Given the description of an element on the screen output the (x, y) to click on. 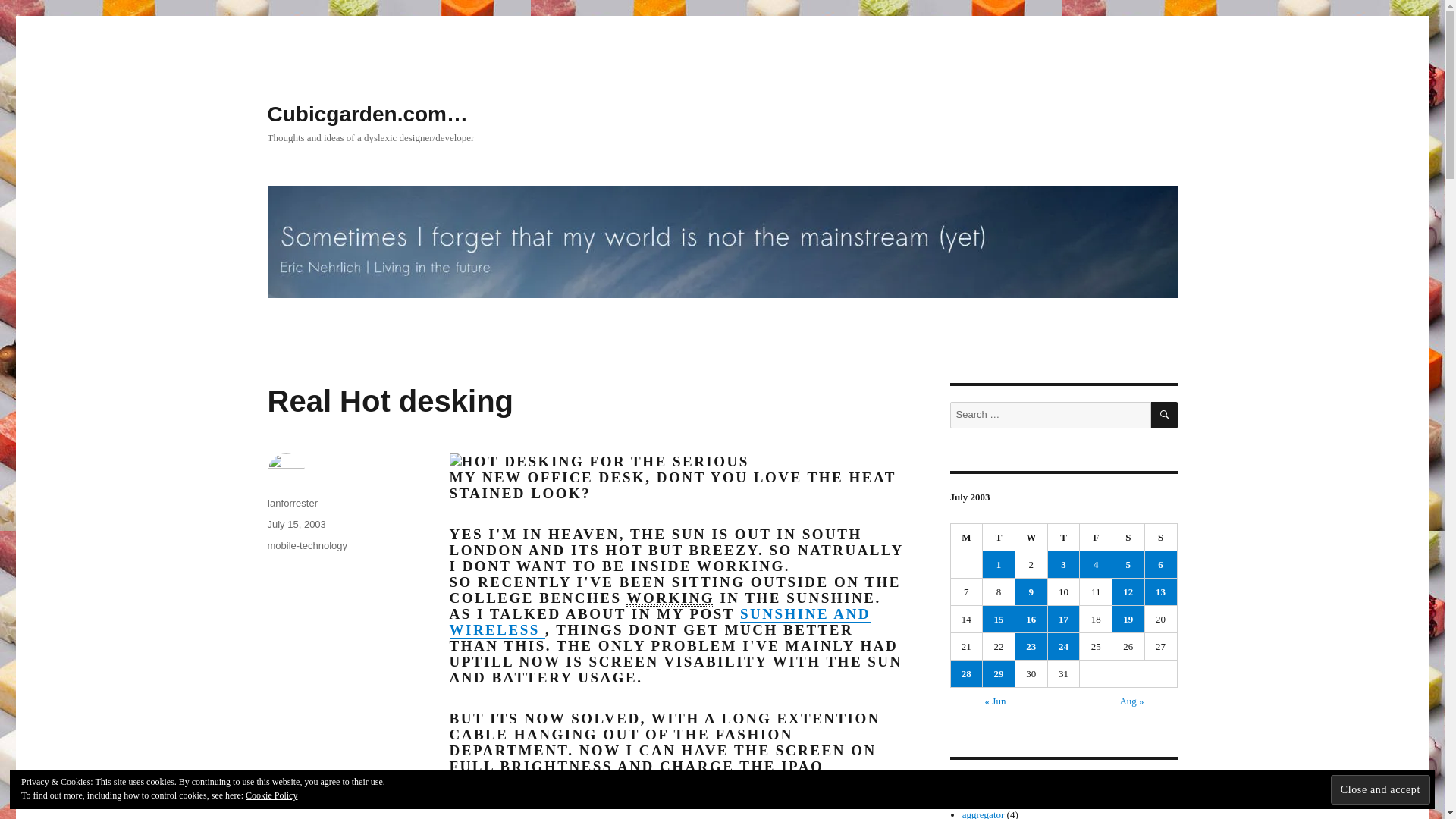
mobile-technology (306, 545)
Ianforrester (291, 502)
SUNSHINE AND WIRELESS (658, 622)
i mean seriously working (670, 597)
Close and accept (1379, 789)
Hot desking for the serious (598, 461)
July 15, 2003 (295, 523)
